Given the description of an element on the screen output the (x, y) to click on. 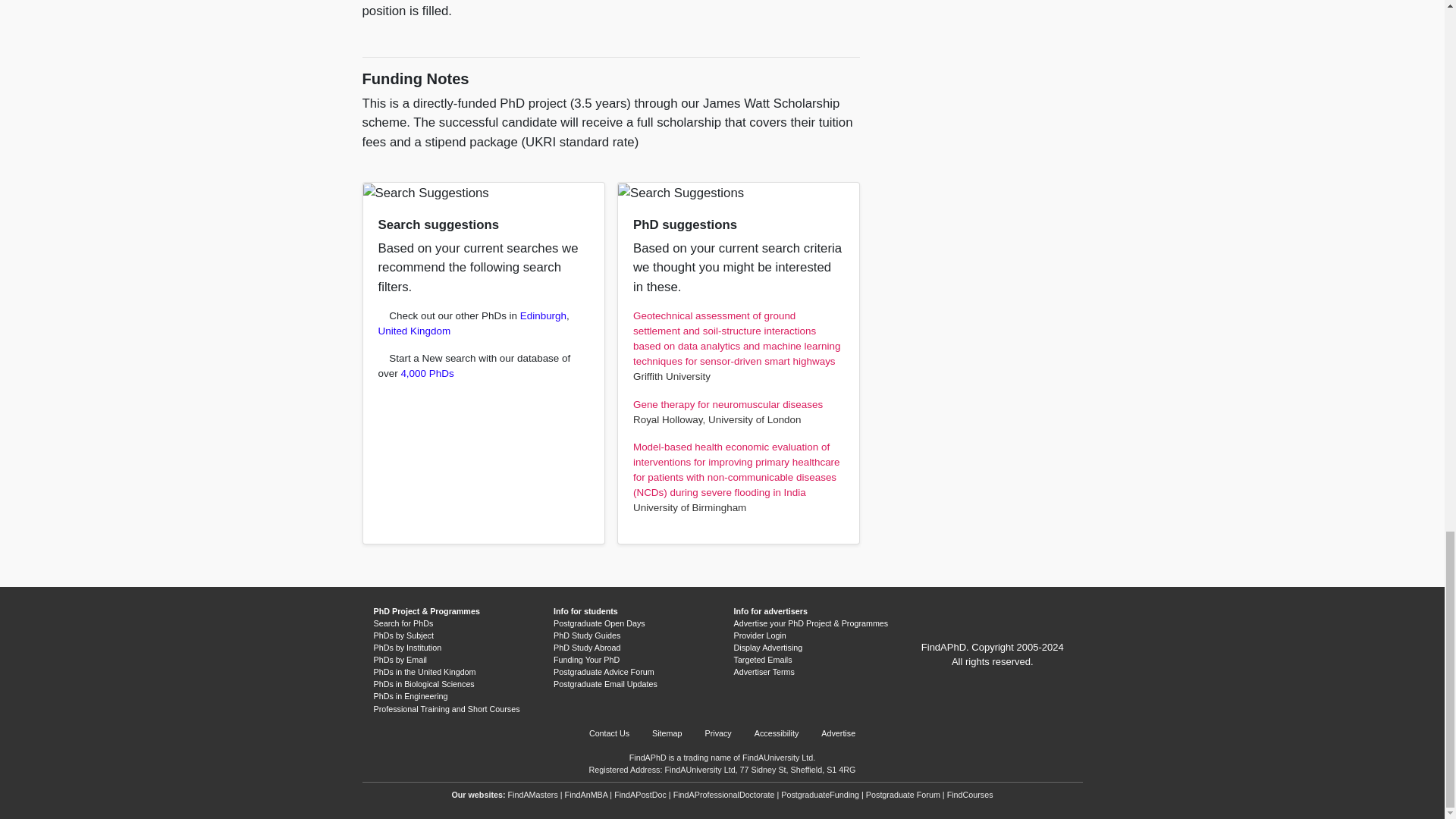
View all courses in Edinburgh (542, 315)
View all courses in United Kingdom (413, 330)
